Given the description of an element on the screen output the (x, y) to click on. 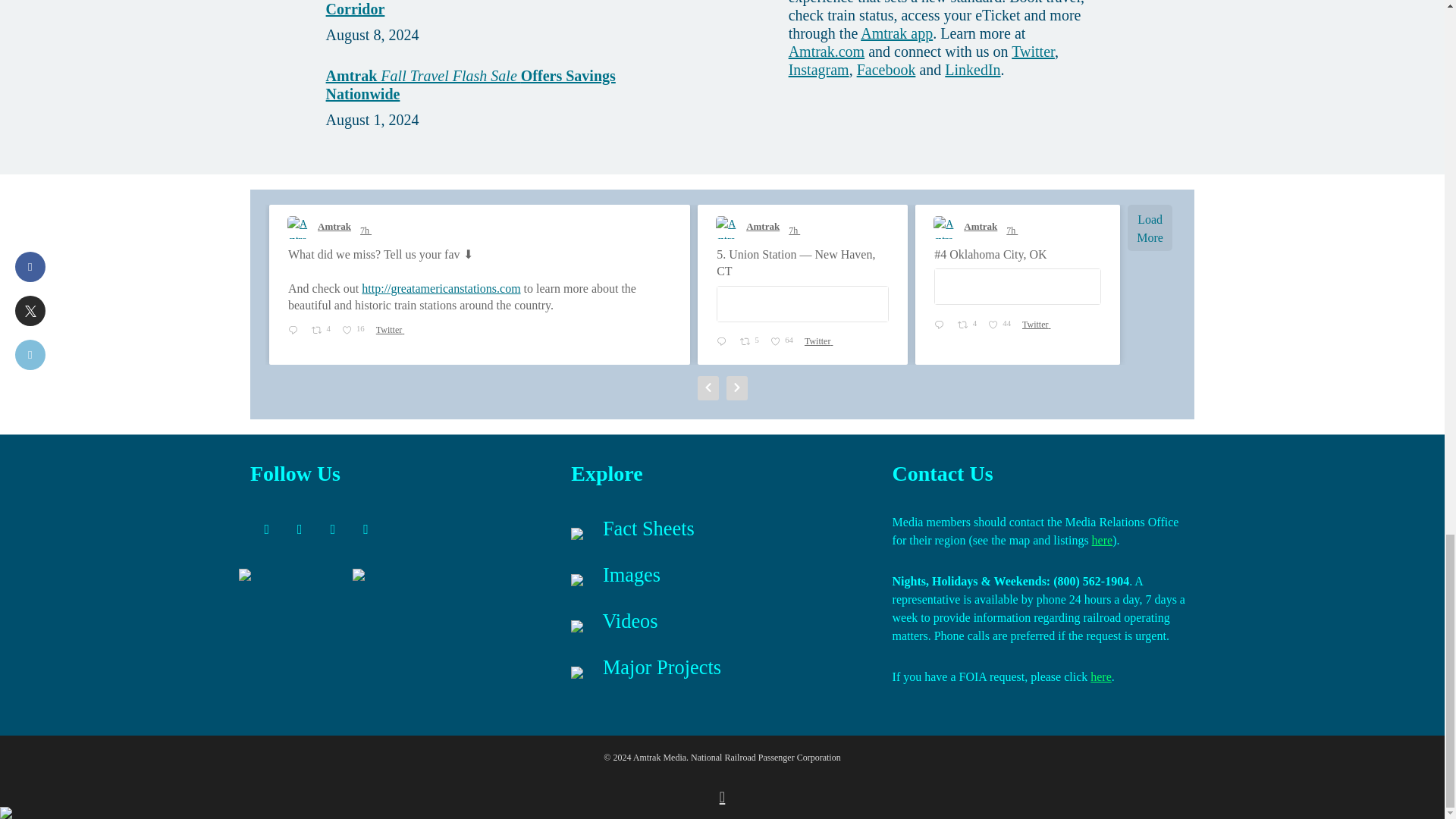
Instagram (332, 530)
X (266, 530)
Facebook (300, 530)
Full Service to be Restored on Quincy-Chicago Corridor (481, 9)
Youtube (365, 530)
